Given the description of an element on the screen output the (x, y) to click on. 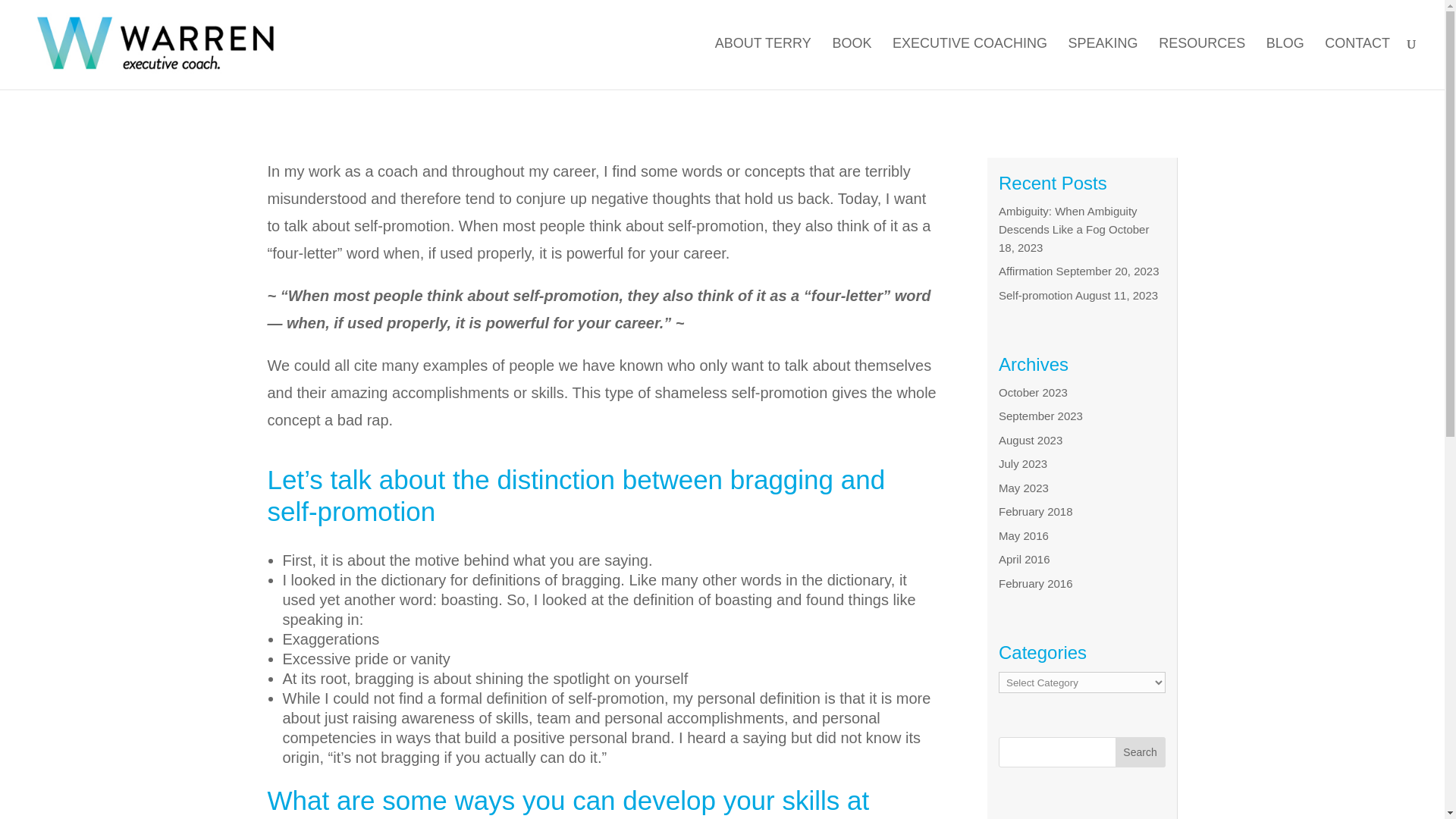
SPEAKING (1103, 59)
ABOUT TERRY (762, 59)
May 2023 (1023, 487)
BOOK (850, 59)
February 2016 (1035, 583)
Affirmation (1025, 270)
Search (1140, 752)
August 2023 (1030, 440)
Search (1140, 752)
September 2023 (1040, 415)
